Given the description of an element on the screen output the (x, y) to click on. 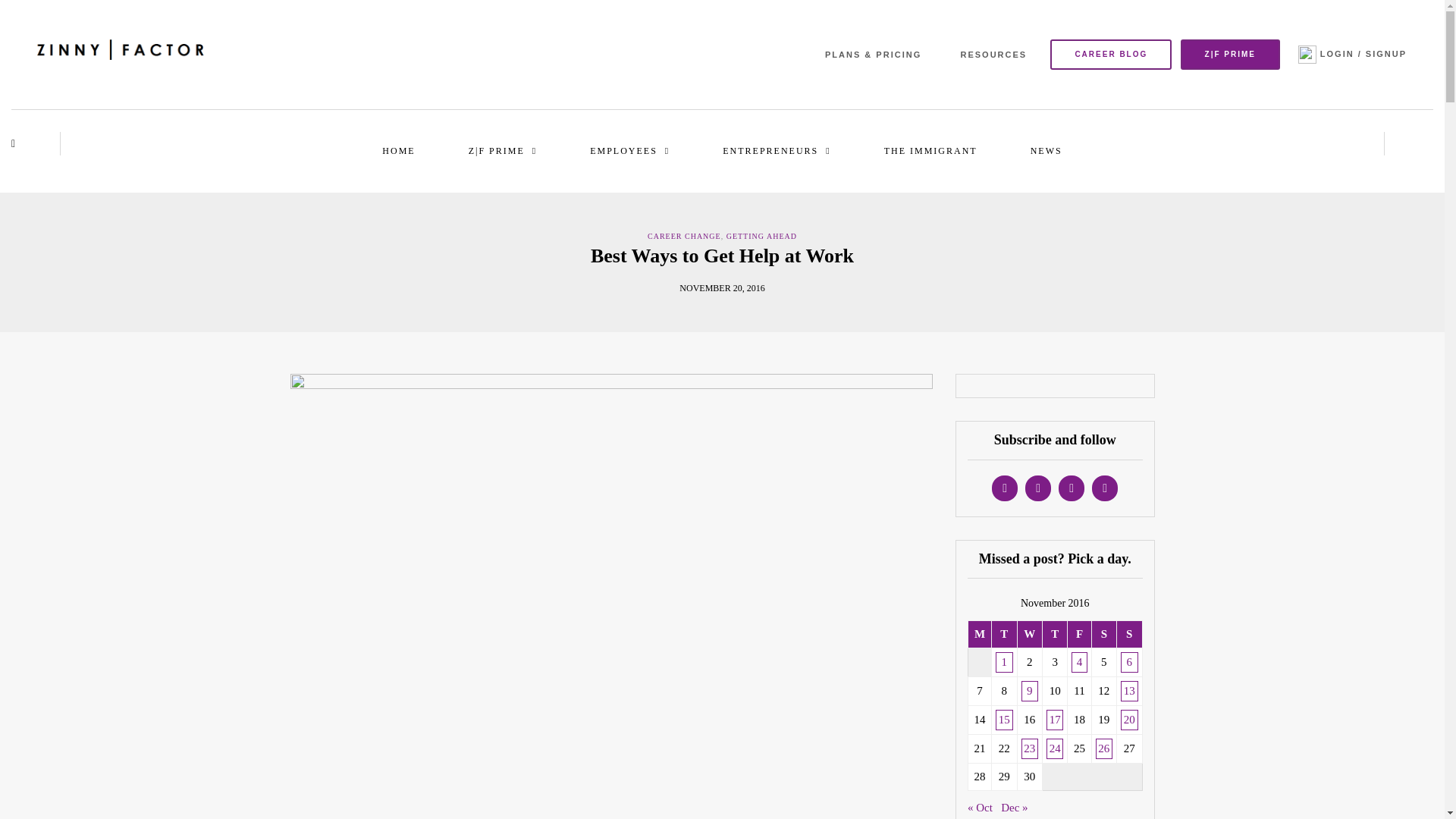
HOME (398, 151)
NEWS (1045, 151)
Wednesday (1029, 634)
Tuesday (1003, 634)
GETTING AHEAD (761, 235)
EMPLOYEES (629, 151)
Thursday (1054, 634)
CAREER BLOG (1110, 54)
Sunday (1128, 634)
ENTREPRENEURS (776, 151)
THE IMMIGRANT (930, 151)
RESOURCES (993, 54)
CAREER CHANGE (683, 235)
Saturday (1103, 634)
